Given the description of an element on the screen output the (x, y) to click on. 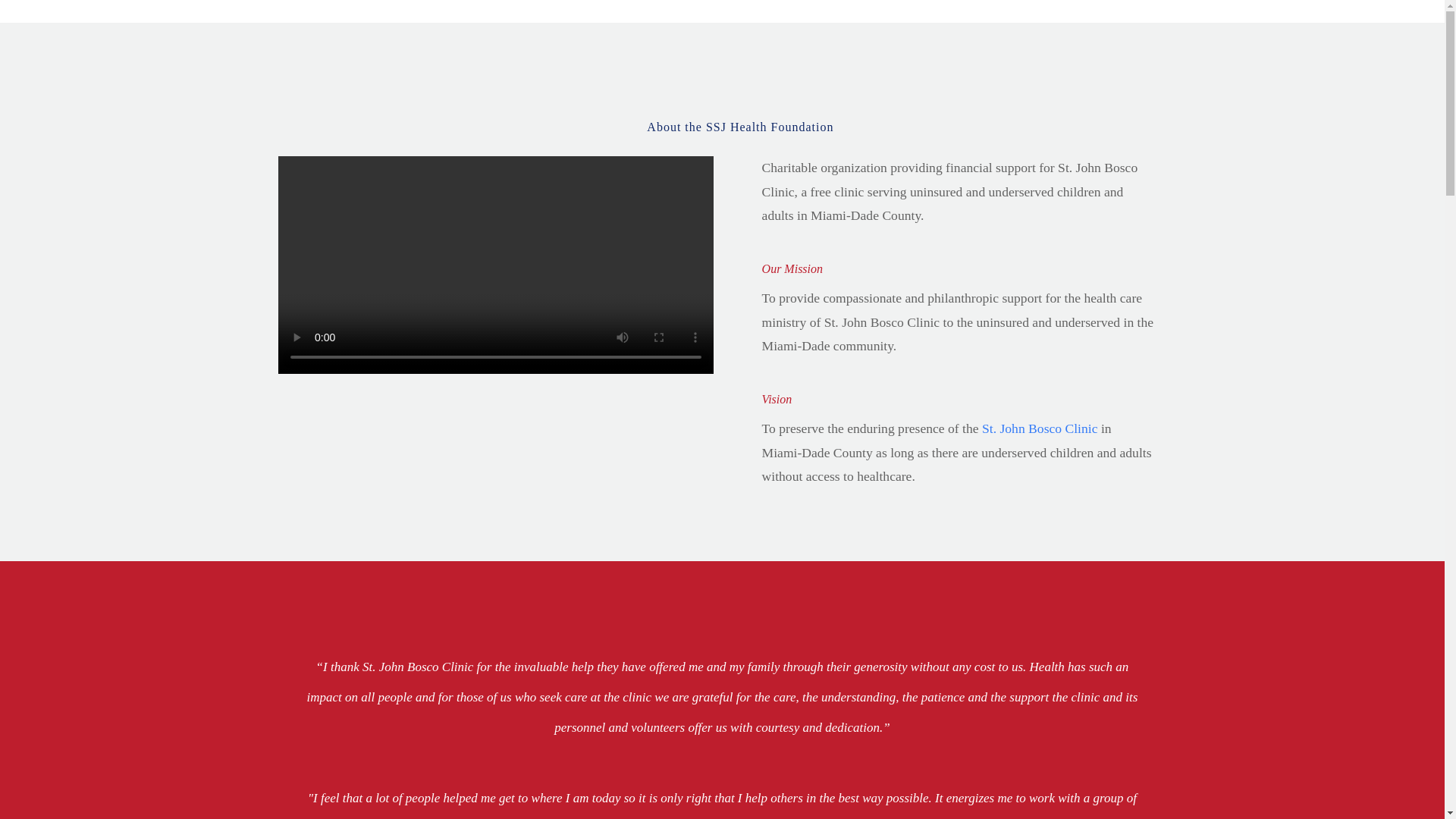
St. John Bosco Clinic (1039, 427)
